Given the description of an element on the screen output the (x, y) to click on. 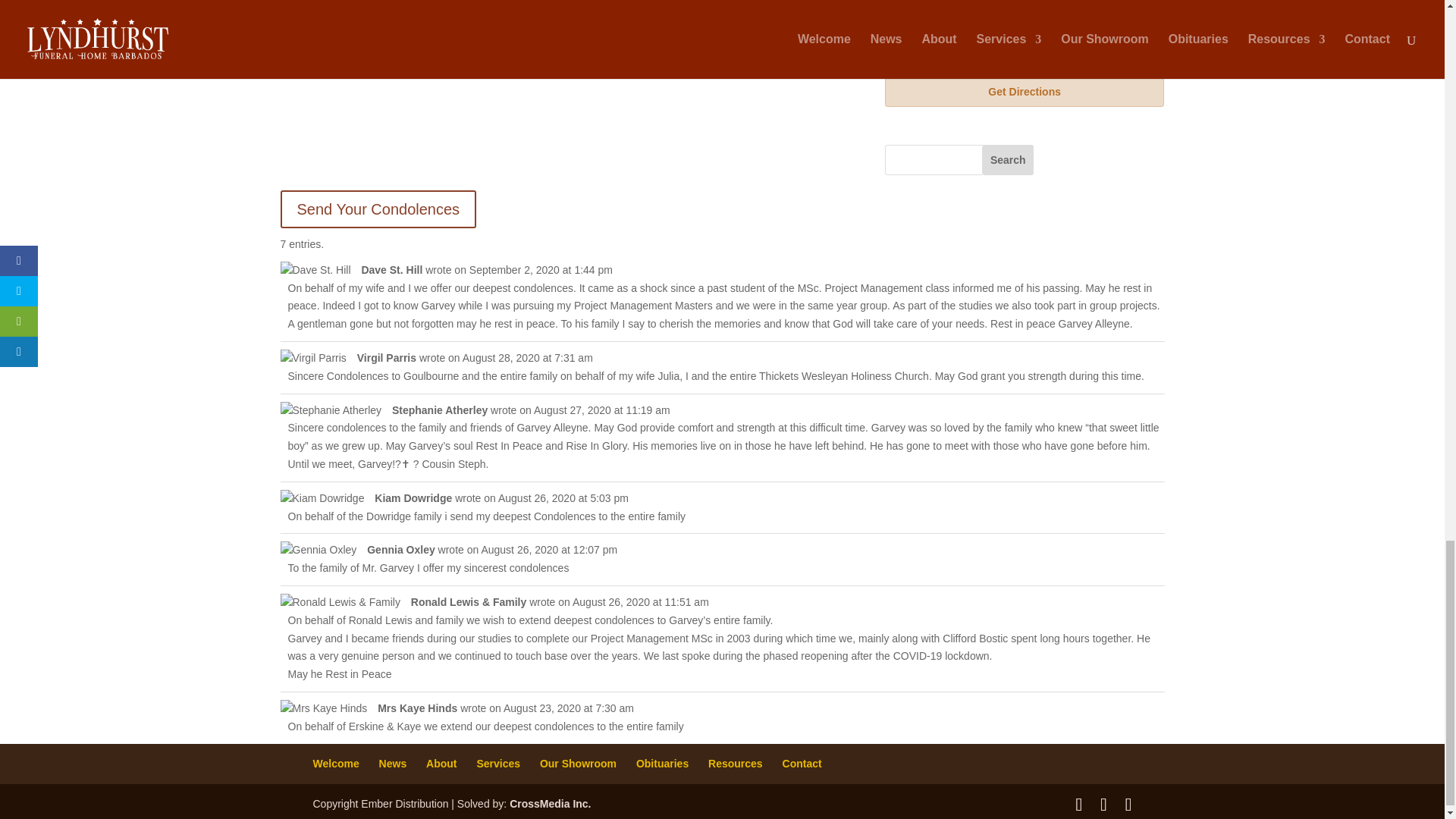
Get Directions (1024, 91)
Send Your Condolences (379, 209)
Get Directions (1024, 91)
Search (1007, 159)
Search (1007, 159)
